Given the description of an element on the screen output the (x, y) to click on. 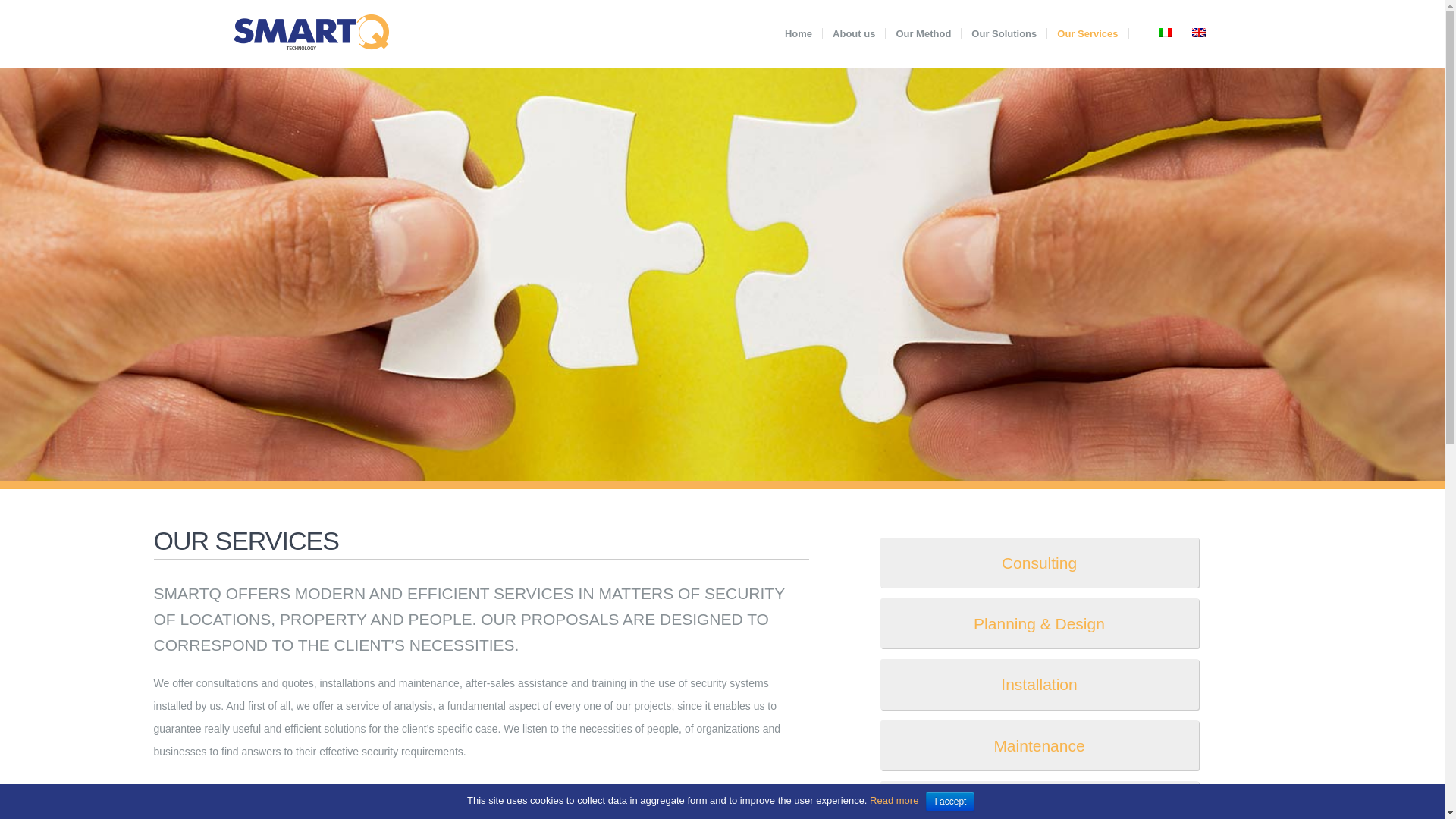
Our Method (922, 33)
Our Solutions (1003, 33)
About us (853, 33)
Read more (892, 799)
EN (1198, 31)
Our Services (1086, 33)
Home (798, 33)
Consulting (1038, 562)
IT (1165, 31)
I accept (950, 801)
Maintenance (1038, 745)
Installation (1038, 684)
